Given the description of an element on the screen output the (x, y) to click on. 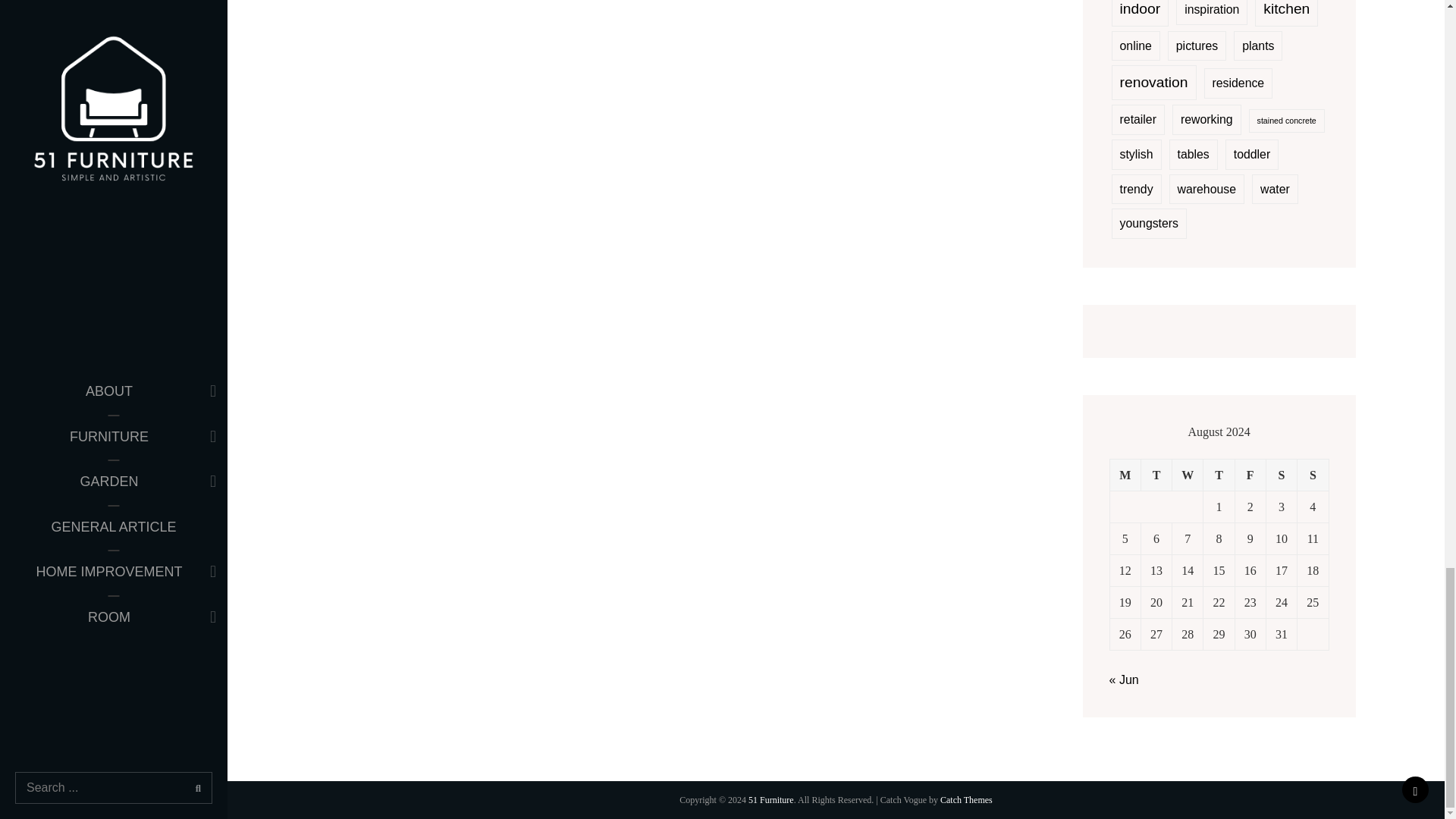
Friday (1249, 474)
Monday (1124, 474)
Tuesday (1156, 474)
Thursday (1219, 474)
Sunday (1312, 474)
Saturday (1281, 474)
Wednesday (1188, 474)
